Given the description of an element on the screen output the (x, y) to click on. 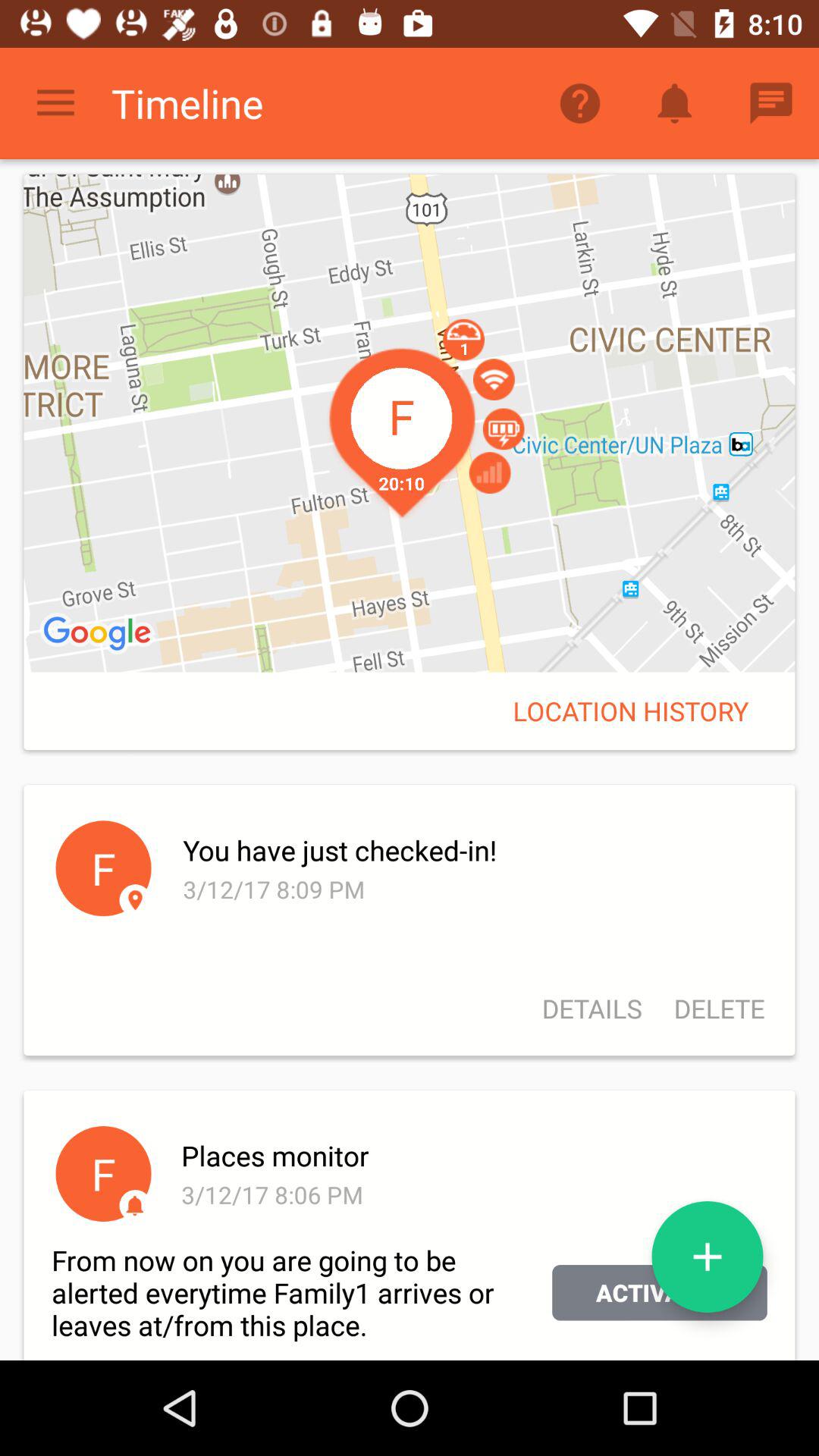
launch the icon on the right (630, 711)
